Given the description of an element on the screen output the (x, y) to click on. 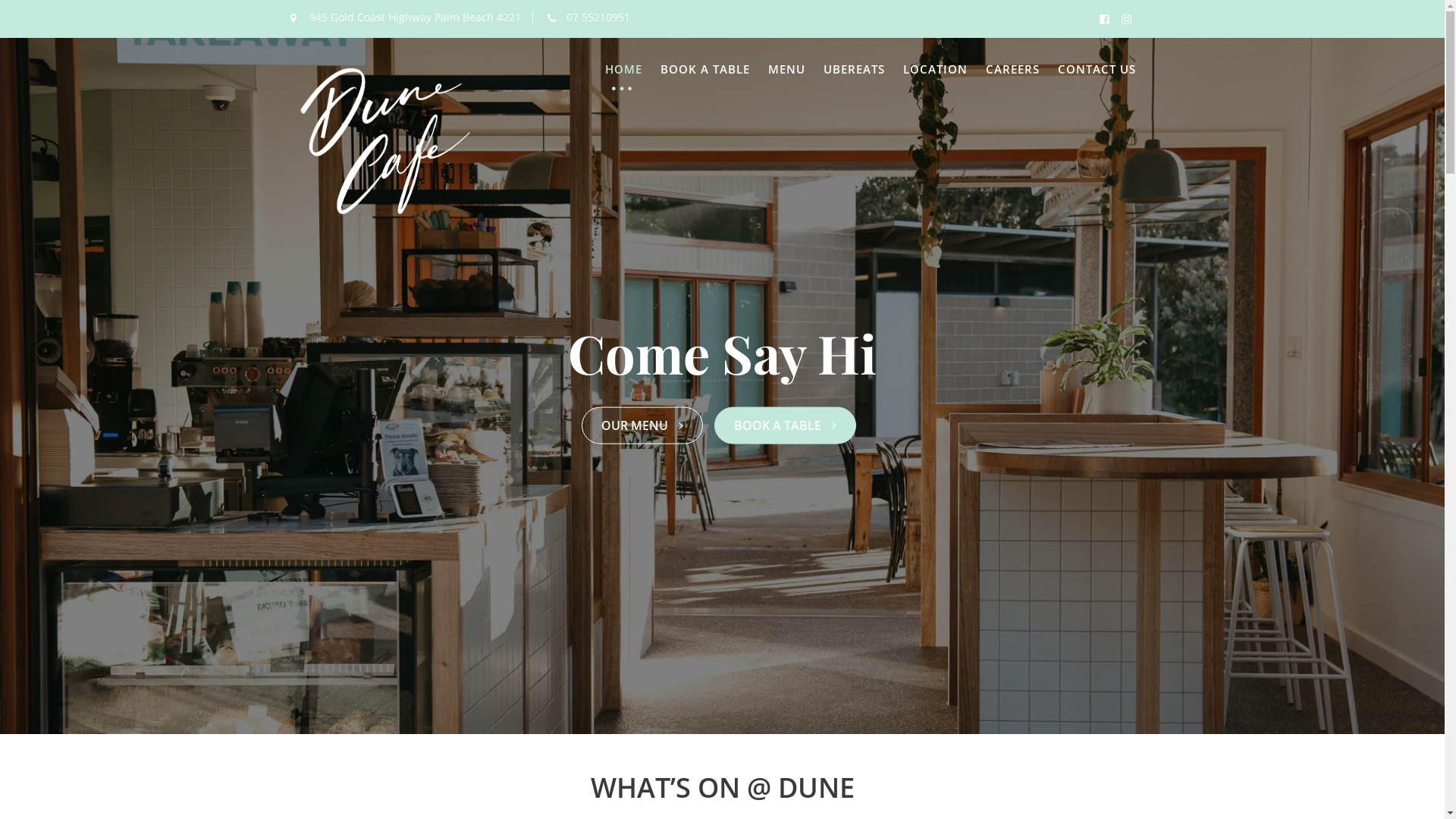
HOME Element type: text (623, 68)
BOOK A TABLE Element type: text (704, 68)
CAREERS Element type: text (1012, 68)
MENU Element type: text (785, 68)
LOCATION Element type: text (934, 68)
BOOK A TABLE Element type: text (785, 425)
CONTACT US Element type: text (1095, 68)
UBEREATS Element type: text (853, 68)
OUR MENU Element type: text (641, 425)
